Given the description of an element on the screen output the (x, y) to click on. 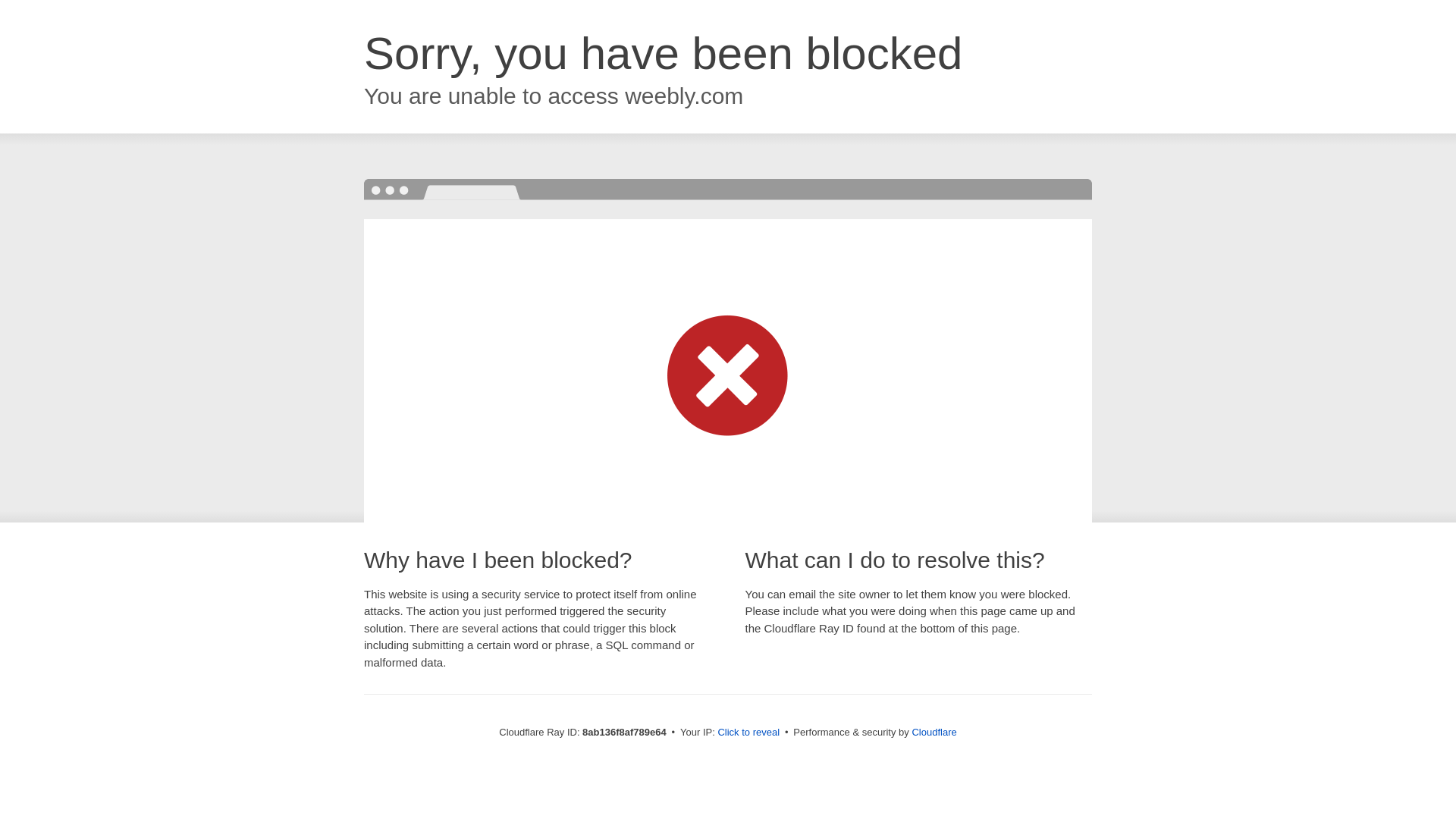
Click to reveal (747, 732)
Cloudflare (933, 731)
